Given the description of an element on the screen output the (x, y) to click on. 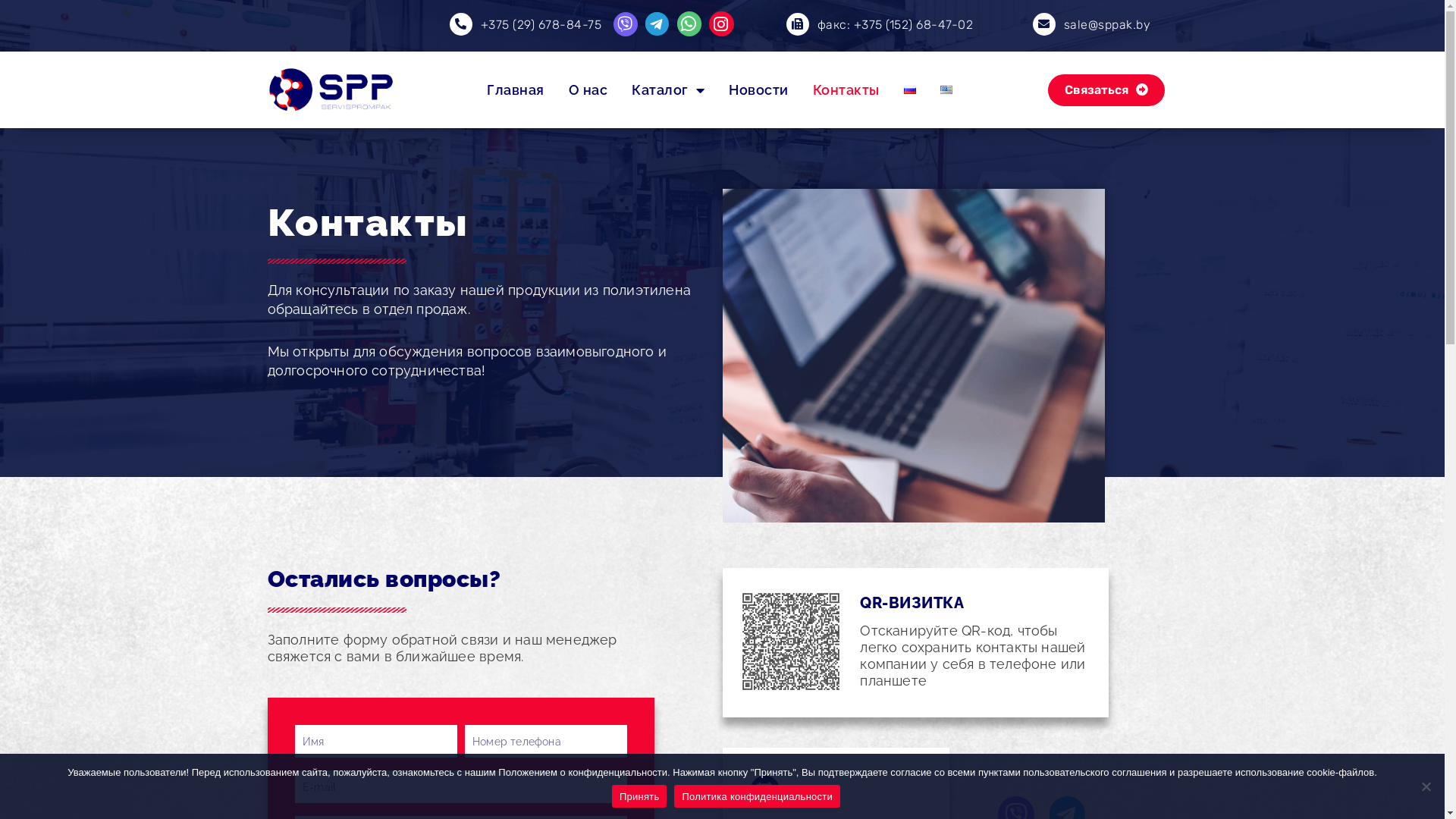
sale@sppak.by Element type: text (1107, 23)
+375 (29) 678-84-75 Element type: text (541, 23)
